Given the description of an element on the screen output the (x, y) to click on. 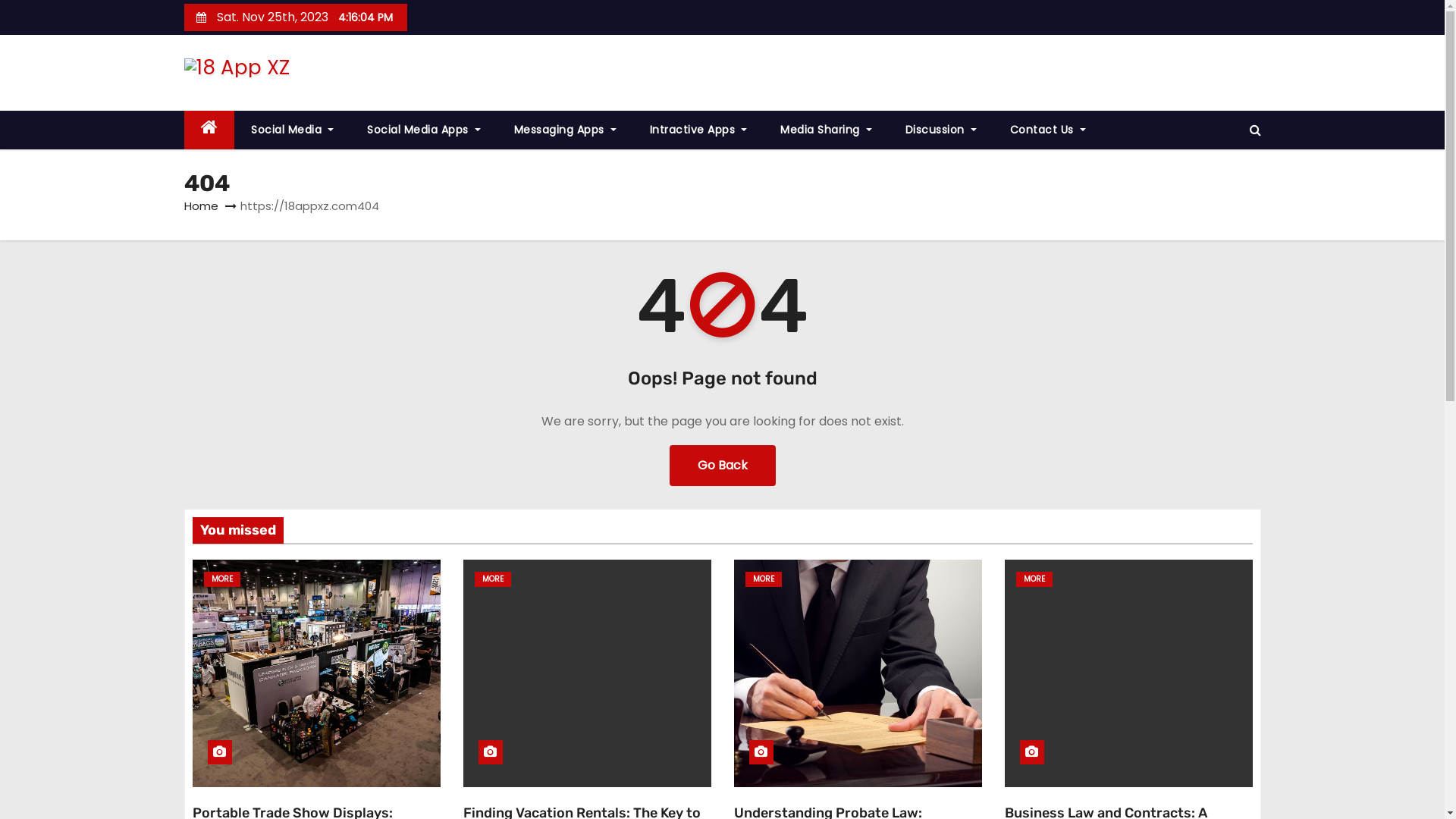
Social Media Element type: text (292, 129)
MORE Element type: text (1034, 578)
Home Element type: hover (208, 129)
Messaging Apps Element type: text (565, 129)
MORE Element type: text (221, 578)
Contact Us Element type: text (1047, 129)
MORE Element type: text (492, 578)
Discussion Element type: text (940, 129)
Home Element type: text (200, 205)
Social Media Apps Element type: text (423, 129)
MORE Element type: text (762, 578)
Go Back Element type: text (721, 465)
Media Sharing Element type: text (825, 129)
Intractive Apps Element type: text (698, 129)
